Given the description of an element on the screen output the (x, y) to click on. 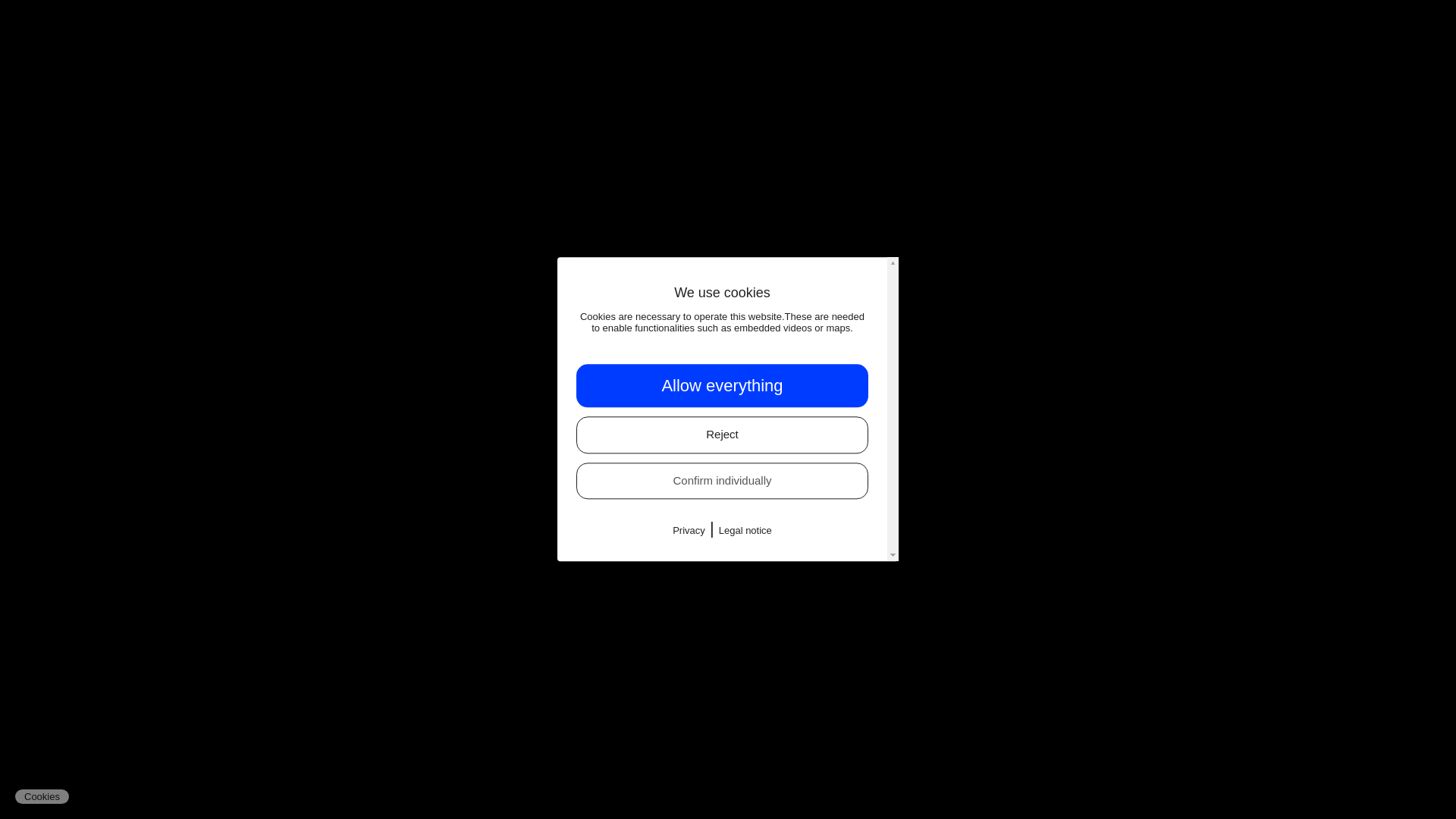
Legal notice (745, 531)
Reject (721, 435)
Privacy (688, 531)
Cookies (41, 795)
Allow everything (721, 385)
Confirm individually (721, 480)
